Given the description of an element on the screen output the (x, y) to click on. 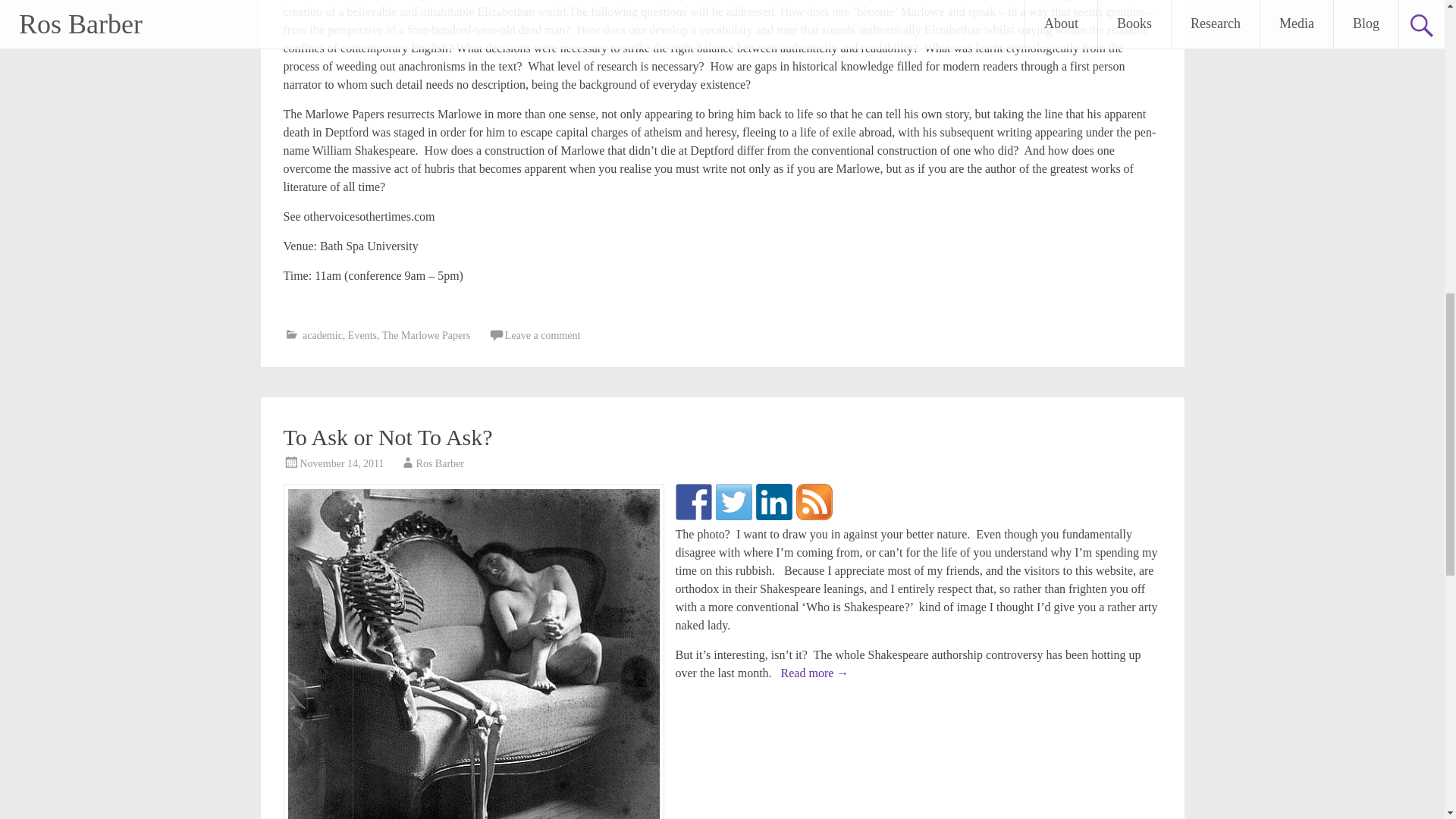
November 14, 2011 (341, 463)
The Marlowe Papers (425, 335)
Leave a comment (542, 335)
Follow me on Facebook (693, 502)
Ros Barber (440, 463)
Events (362, 335)
Follow me on Twitter (734, 502)
Find me on Linked in (773, 502)
academic (322, 335)
To Ask or Not To Ask? (388, 437)
